Given the description of an element on the screen output the (x, y) to click on. 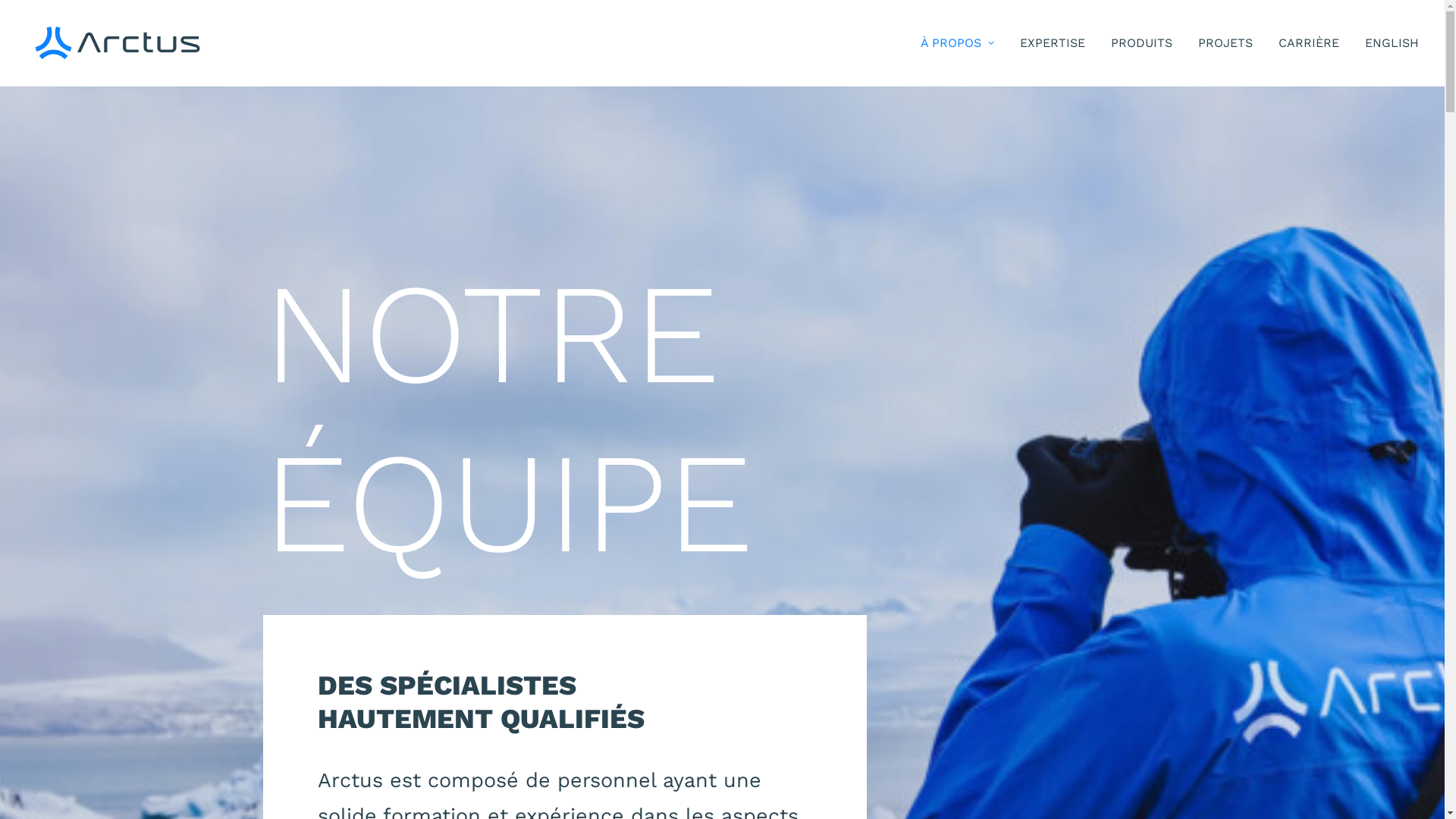
PROJETS Element type: text (1225, 43)
EXPERTISE Element type: text (1051, 43)
PRODUITS Element type: text (1140, 43)
ENGLISH Element type: text (1386, 43)
